Given the description of an element on the screen output the (x, y) to click on. 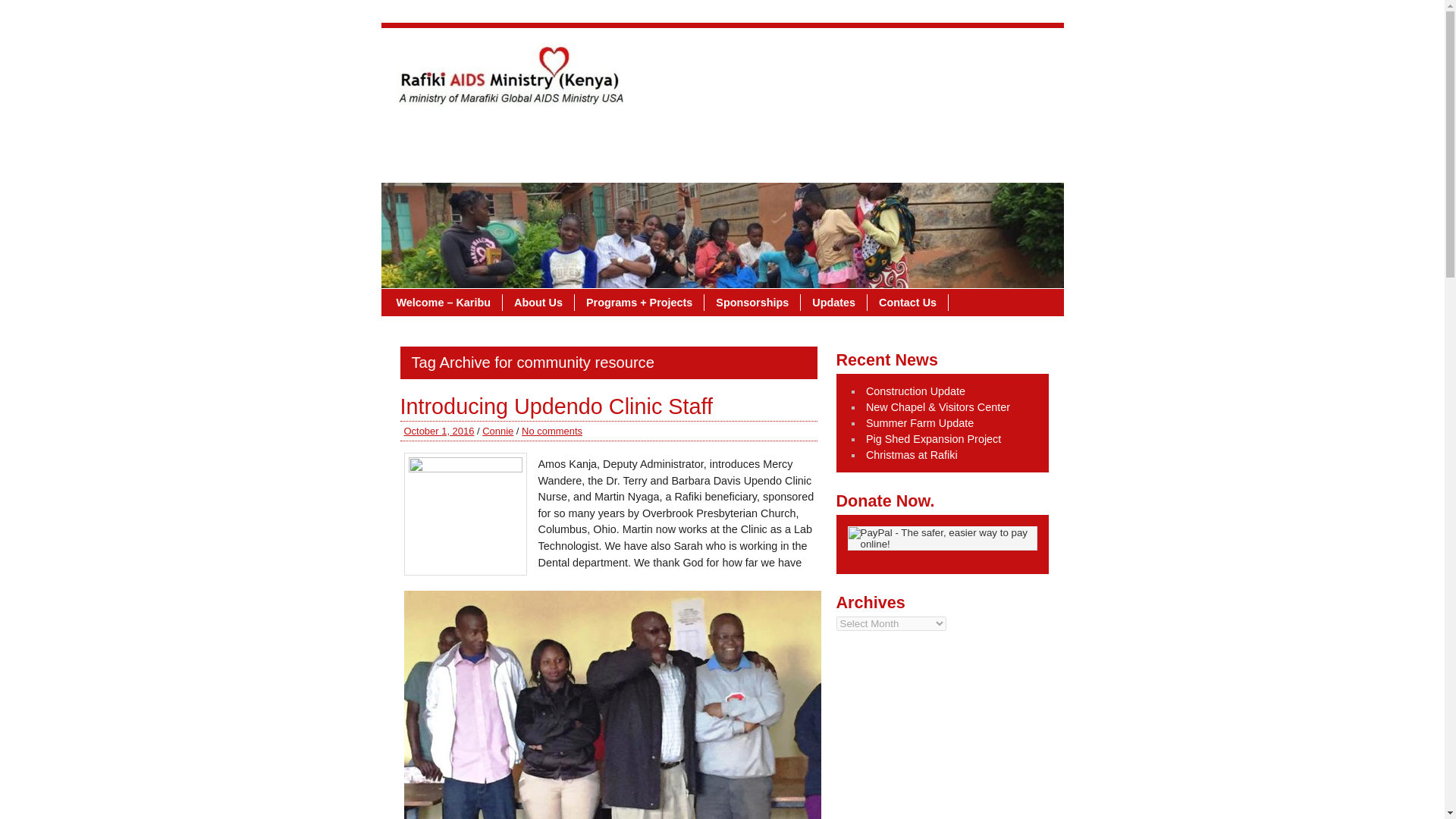
Benefit (501, 137)
About Us (538, 302)
Sponsorships (914, 137)
Kitchen Expansion (673, 137)
Updates (995, 137)
About Us (435, 137)
Contact Us (572, 137)
Posts by Connie (497, 430)
